Given the description of an element on the screen output the (x, y) to click on. 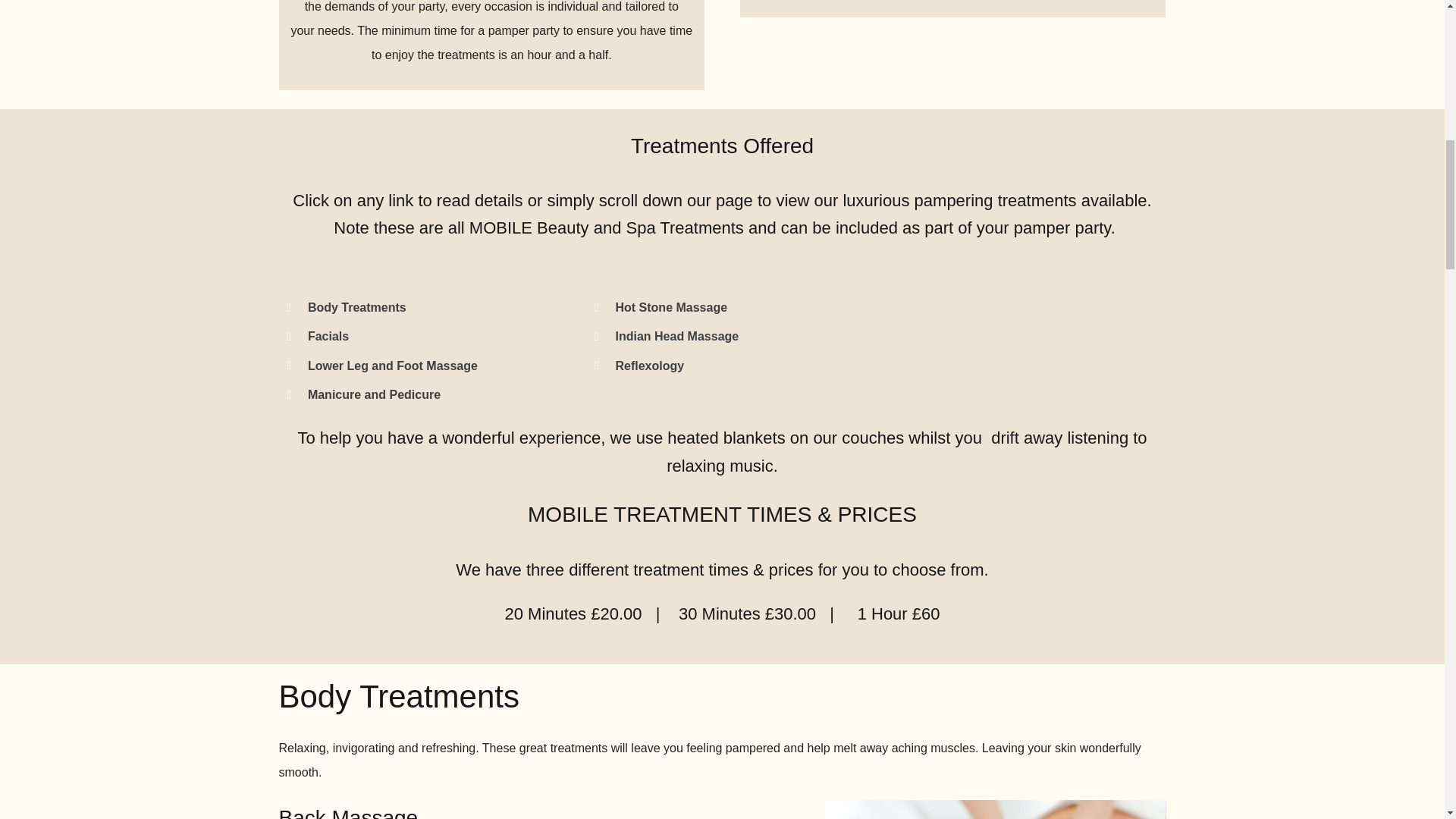
Lower Leg and Foot Massage (392, 365)
Hot Stone Massage (670, 307)
Reflexology (649, 365)
Manicure and Pedicure (374, 394)
Indian Head Massage (676, 336)
Body Treatments (356, 307)
Facials (328, 336)
